Given the description of an element on the screen output the (x, y) to click on. 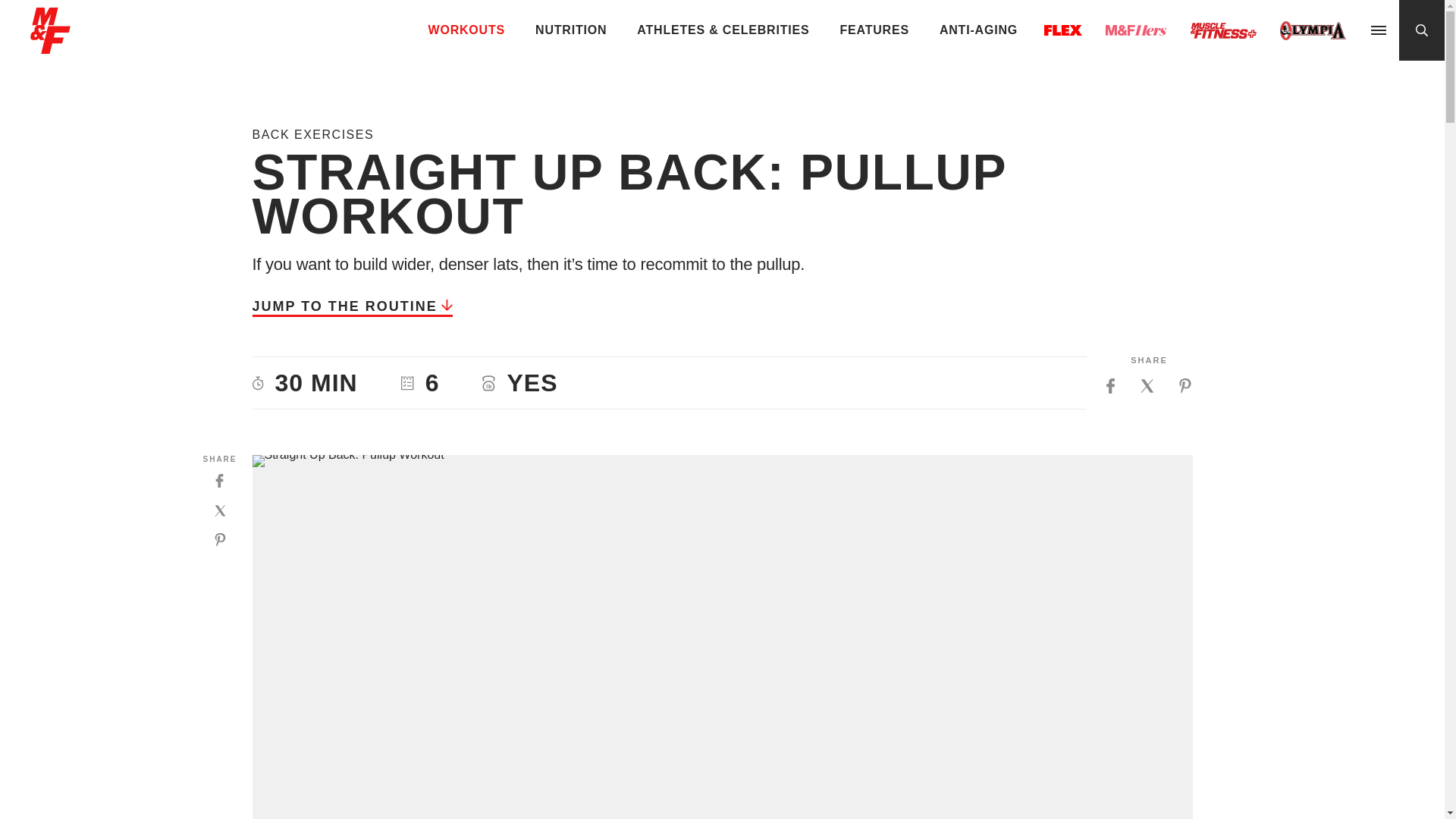
Click to share on Pinterest (219, 539)
Click to share on Pinterest (1184, 385)
WORKOUTS (467, 30)
Home (49, 47)
NUTRITION (570, 30)
Click to share on Twitter (219, 509)
Click to share on Twitter (1146, 385)
